Given the description of an element on the screen output the (x, y) to click on. 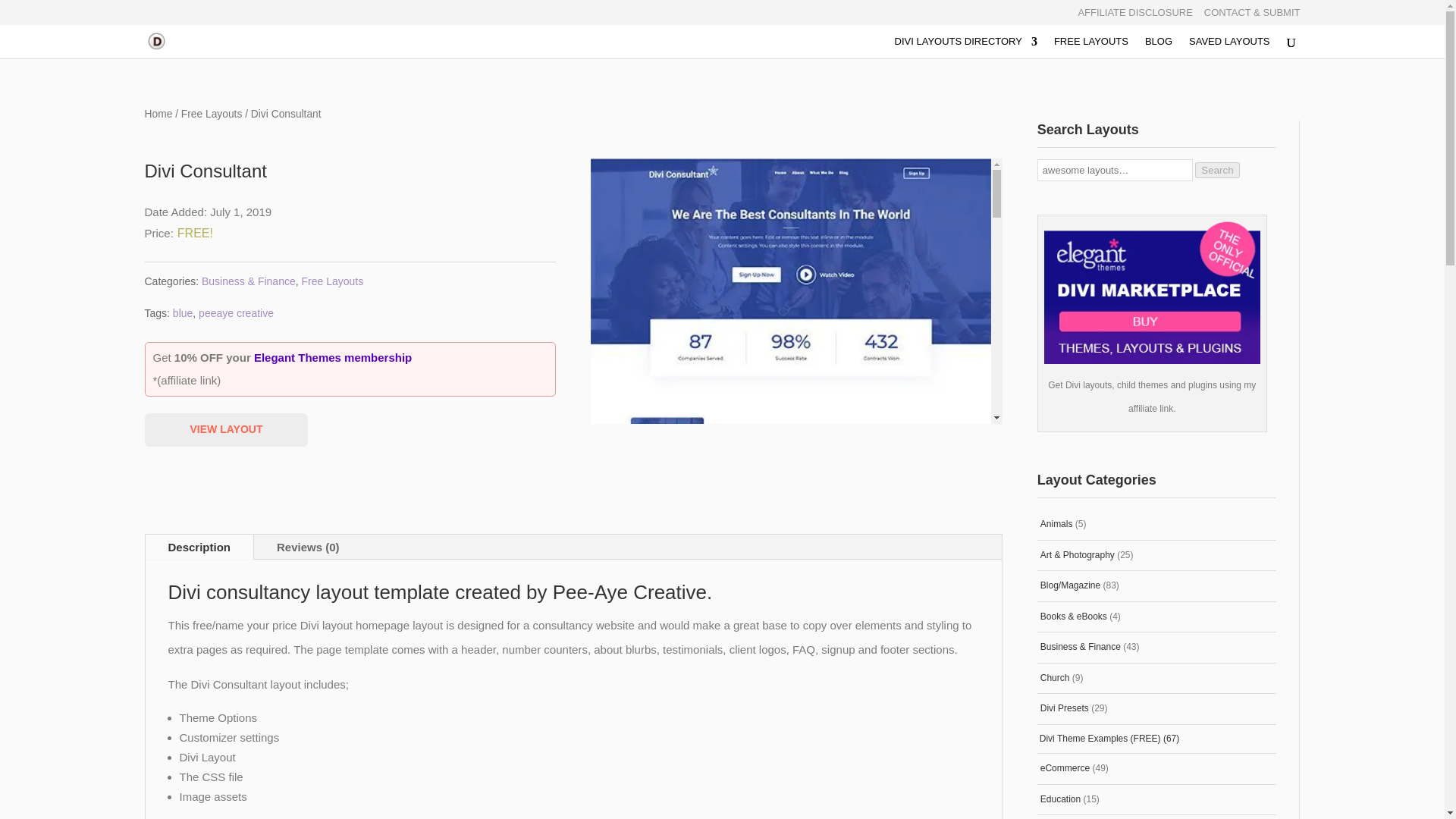
Elegant Themes membership (332, 357)
AFFILIATE DISCLOSURE (1134, 16)
DIVI LAYOUTS DIRECTORY (965, 47)
